Given the description of an element on the screen output the (x, y) to click on. 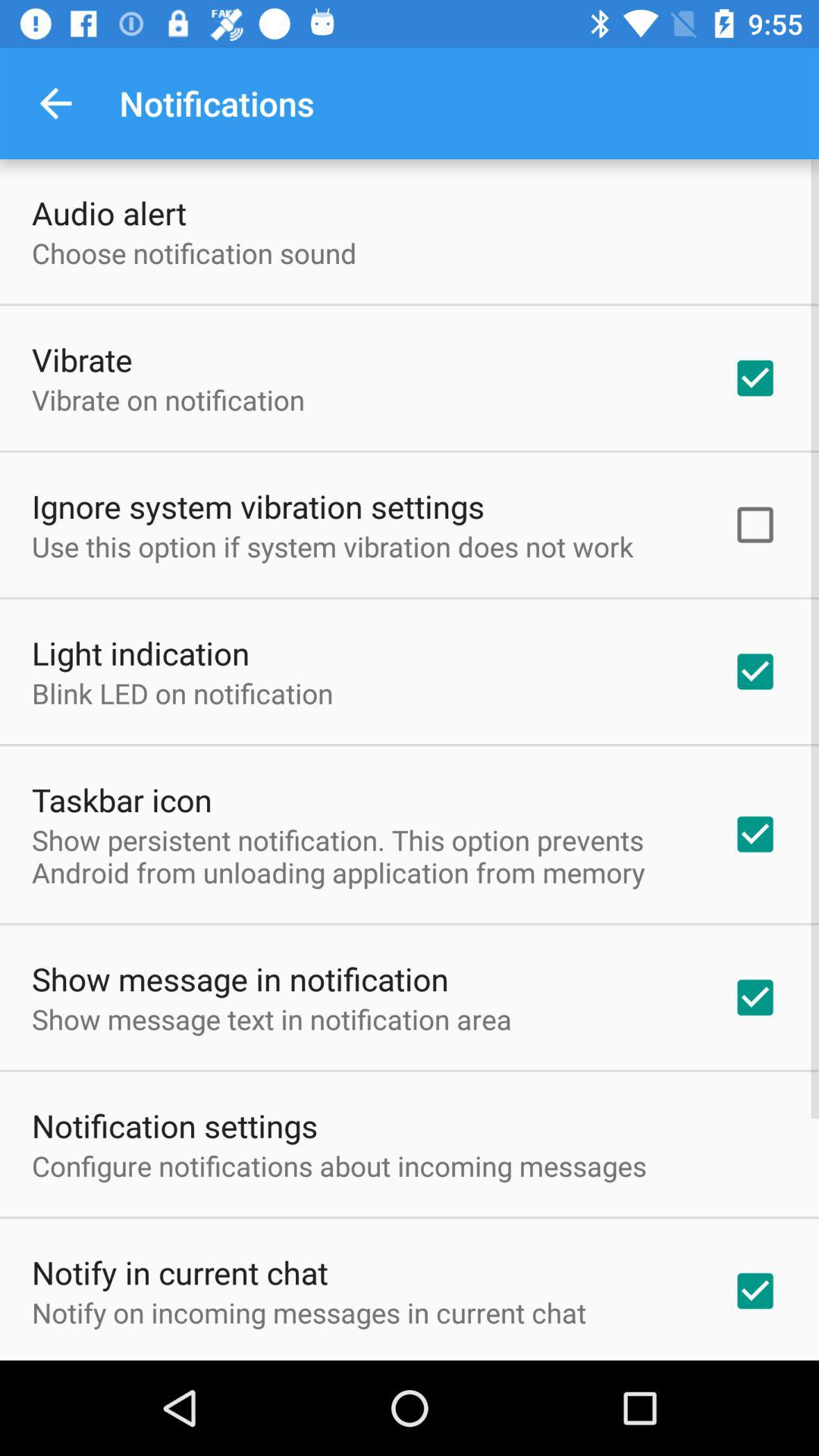
turn on the icon below the notify in current item (308, 1312)
